Given the description of an element on the screen output the (x, y) to click on. 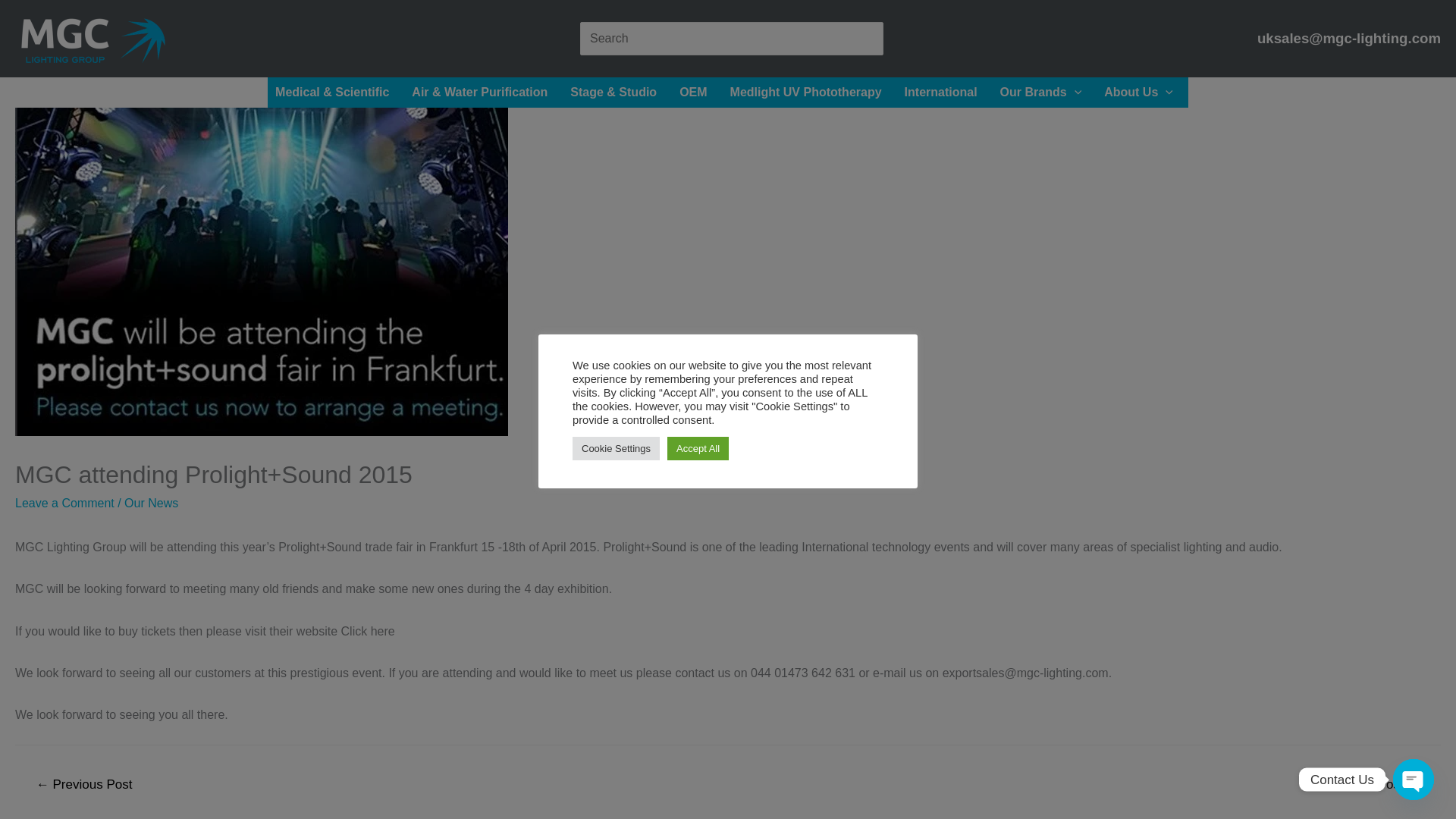
OEM (696, 91)
International (944, 91)
Our Brands (1044, 91)
Medlight UV Phototherapy (809, 91)
